Given the description of an element on the screen output the (x, y) to click on. 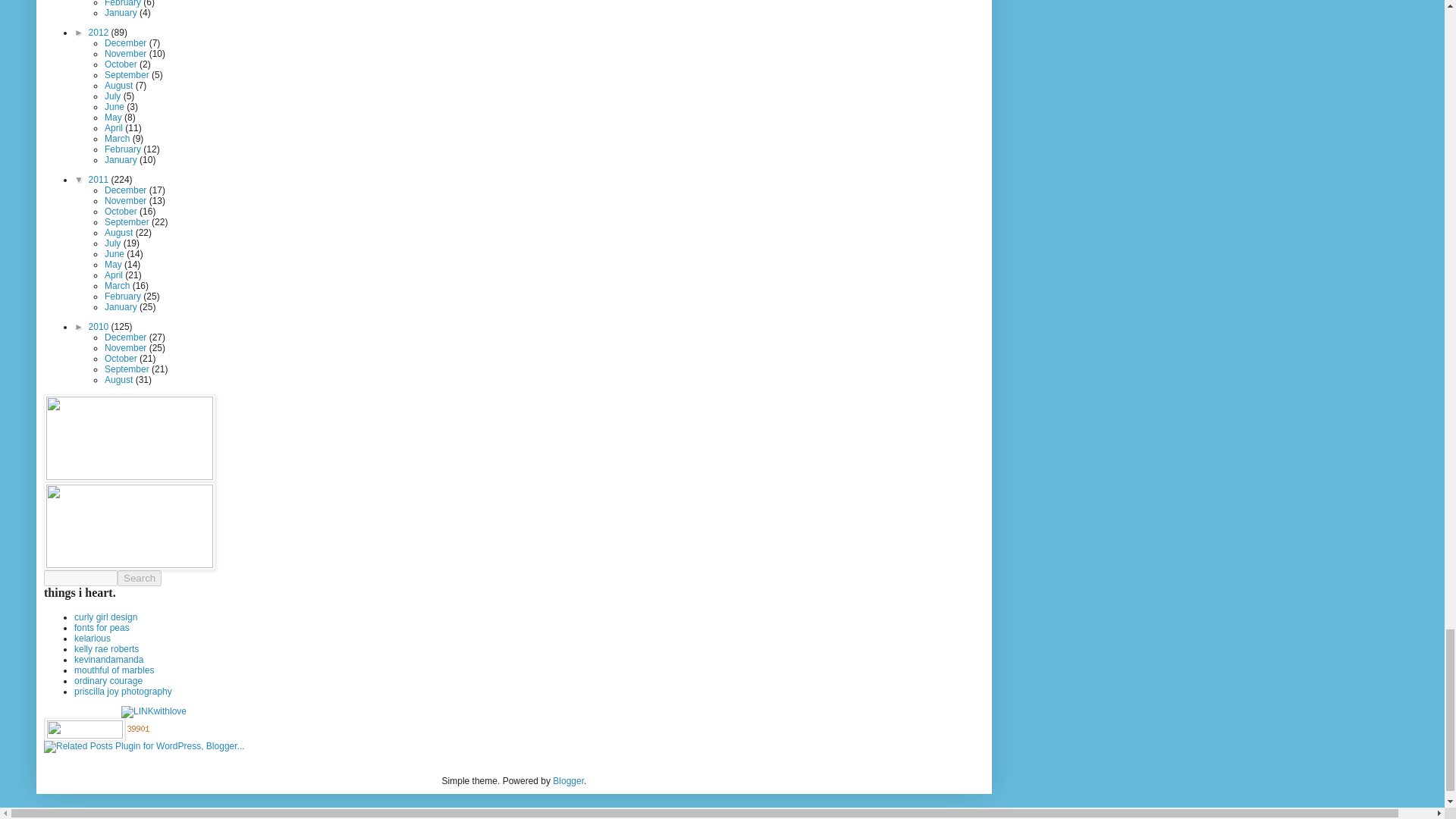
LINKwithlove (153, 710)
search (80, 578)
search (139, 578)
Search (139, 578)
Search (139, 578)
